Given the description of an element on the screen output the (x, y) to click on. 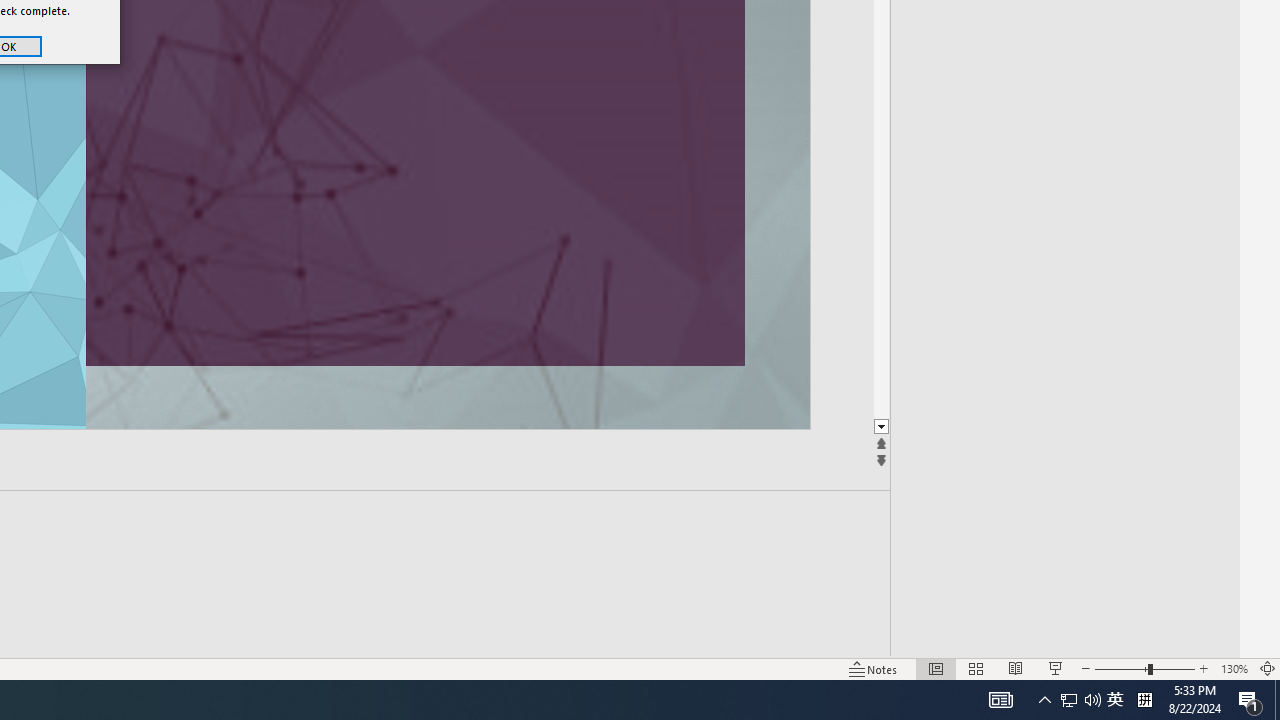
Action Center, 1 new notification (1250, 699)
Zoom 130% (1234, 668)
